Given the description of an element on the screen output the (x, y) to click on. 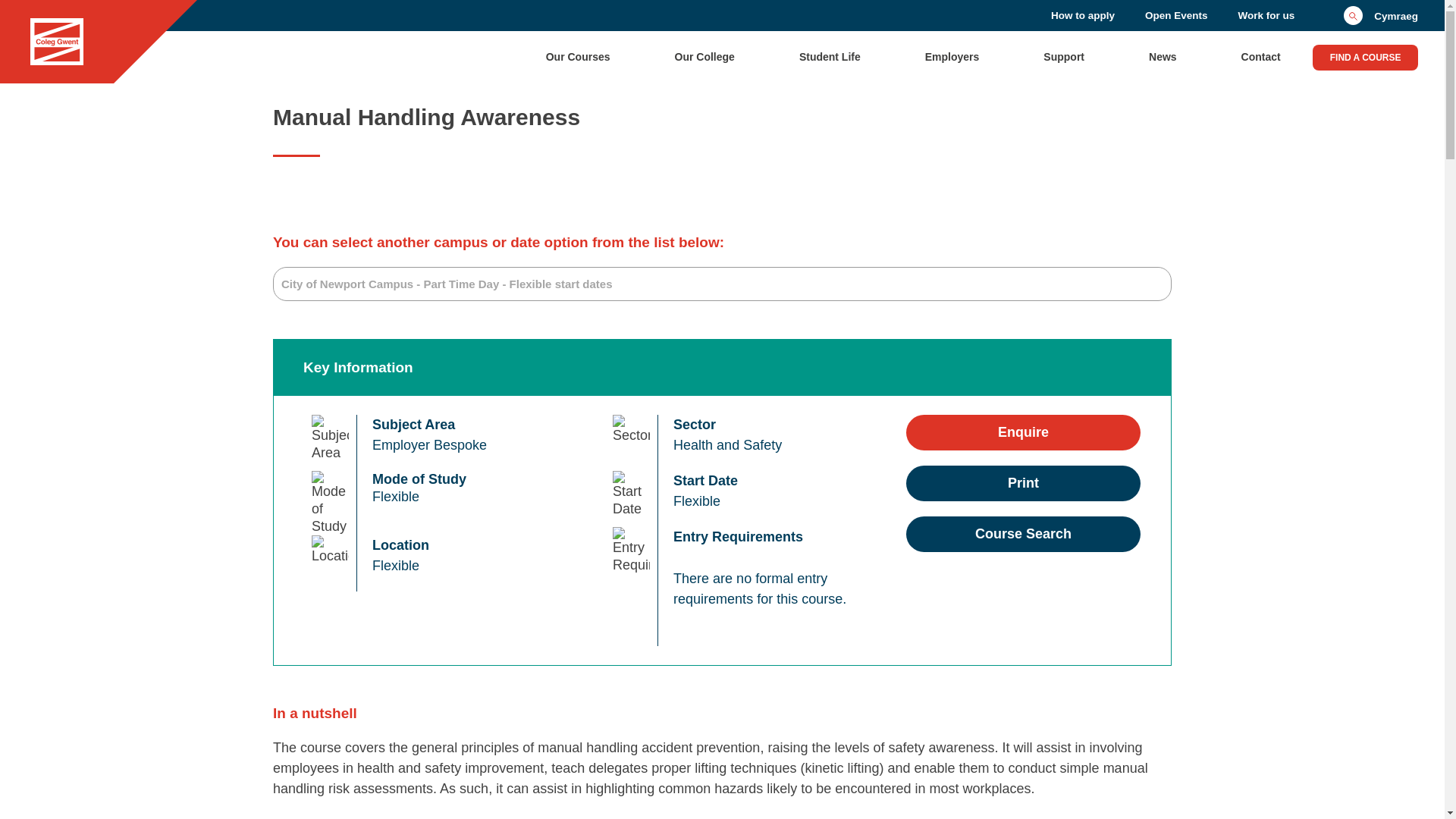
Work for us (1265, 15)
How to apply (1083, 15)
Go to the homepage (56, 41)
Cymraeg (1396, 14)
Our College (705, 56)
Our Courses (578, 56)
Open Events (1176, 15)
